Given the description of an element on the screen output the (x, y) to click on. 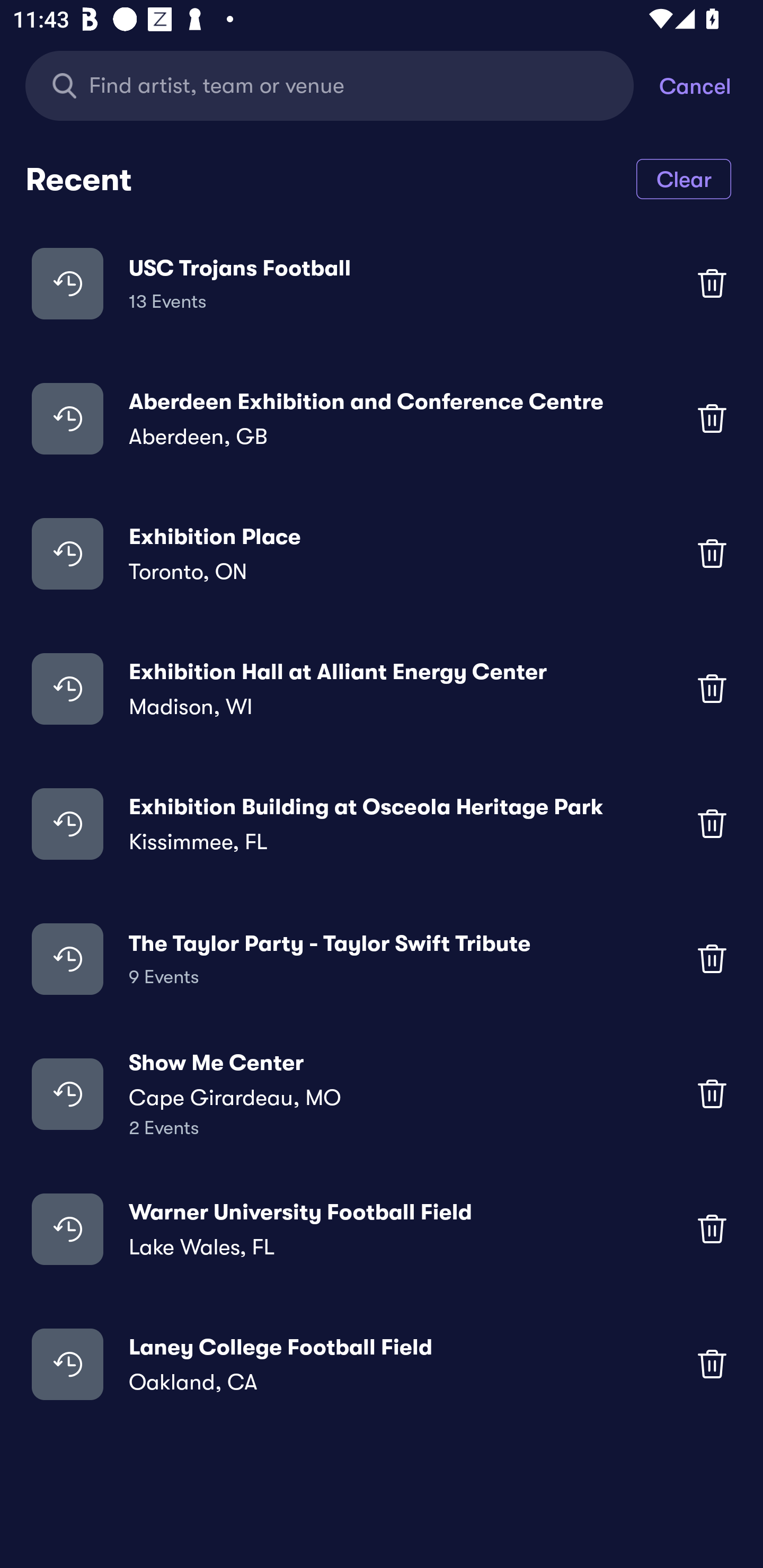
Find artist, team or venue Find (329, 85)
Find artist, team or venue Find (342, 85)
Cancel (711, 85)
Clear (683, 178)
USC Trojans Football 13 Events (381, 282)
Exhibition Place Toronto, ON (381, 553)
The Taylor Party - Taylor Swift Tribute 9 Events (381, 958)
Show Me Center Cape Girardeau, MO 2 Events (381, 1093)
Warner University Football Field Lake Wales, FL (381, 1228)
Laney College Football Field Oakland, CA (381, 1364)
